Given the description of an element on the screen output the (x, y) to click on. 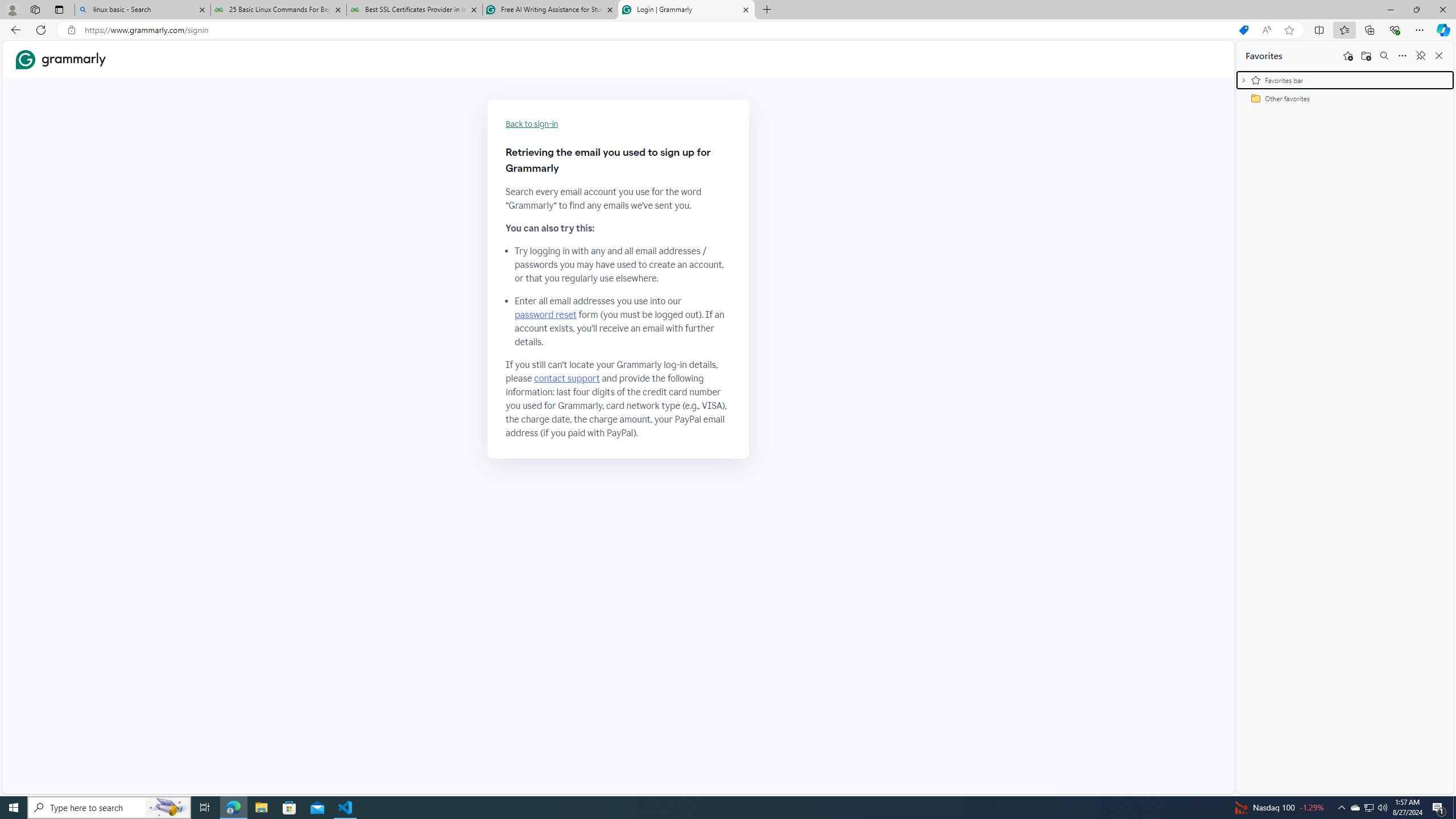
Login | Grammarly (685, 9)
password reset (545, 314)
Free AI Writing Assistance for Students | Grammarly (550, 9)
Search favorites (1383, 55)
25 Basic Linux Commands For Beginners - GeeksforGeeks (277, 9)
